Given the description of an element on the screen output the (x, y) to click on. 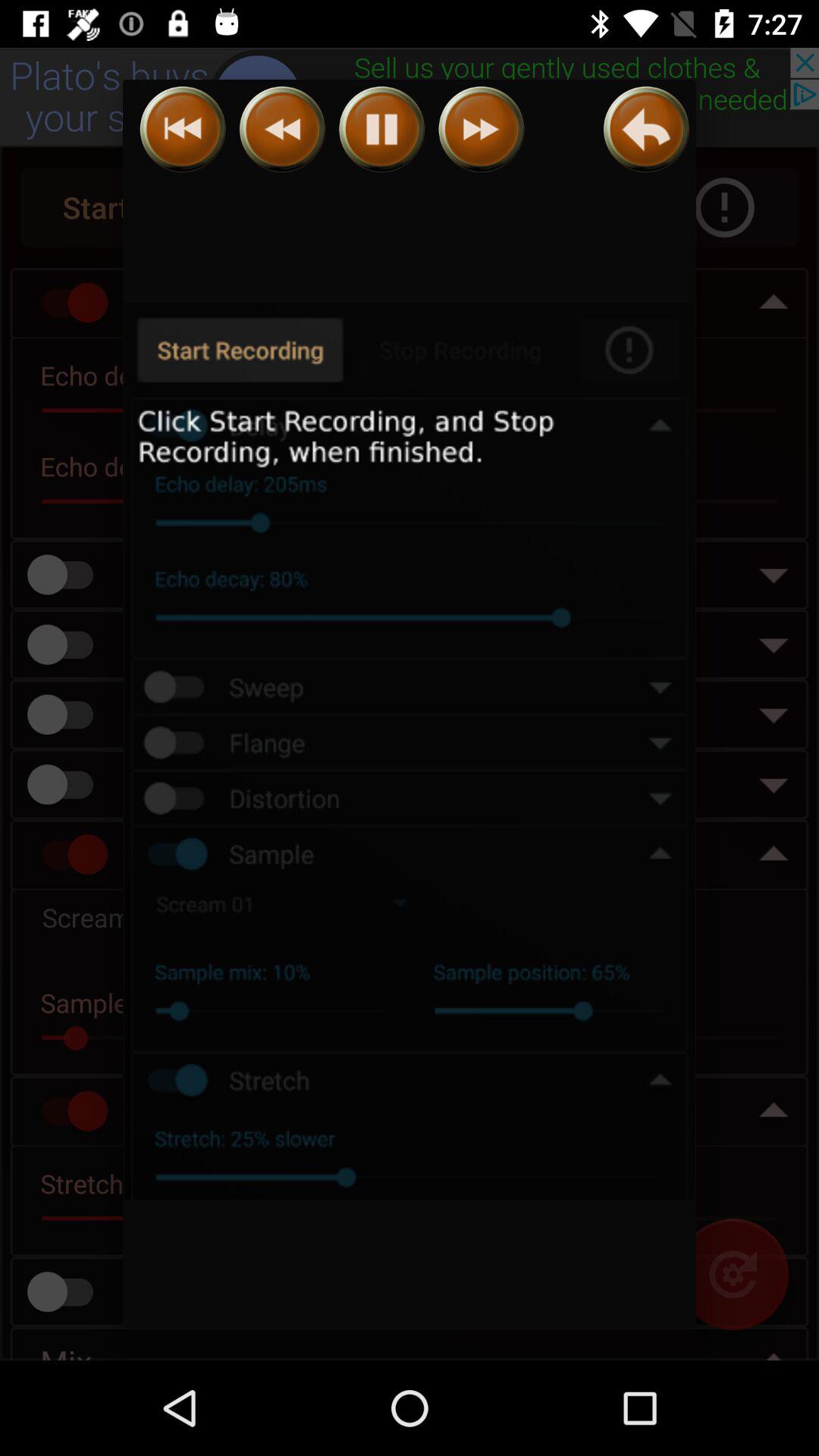
go back to menu (646, 129)
